Given the description of an element on the screen output the (x, y) to click on. 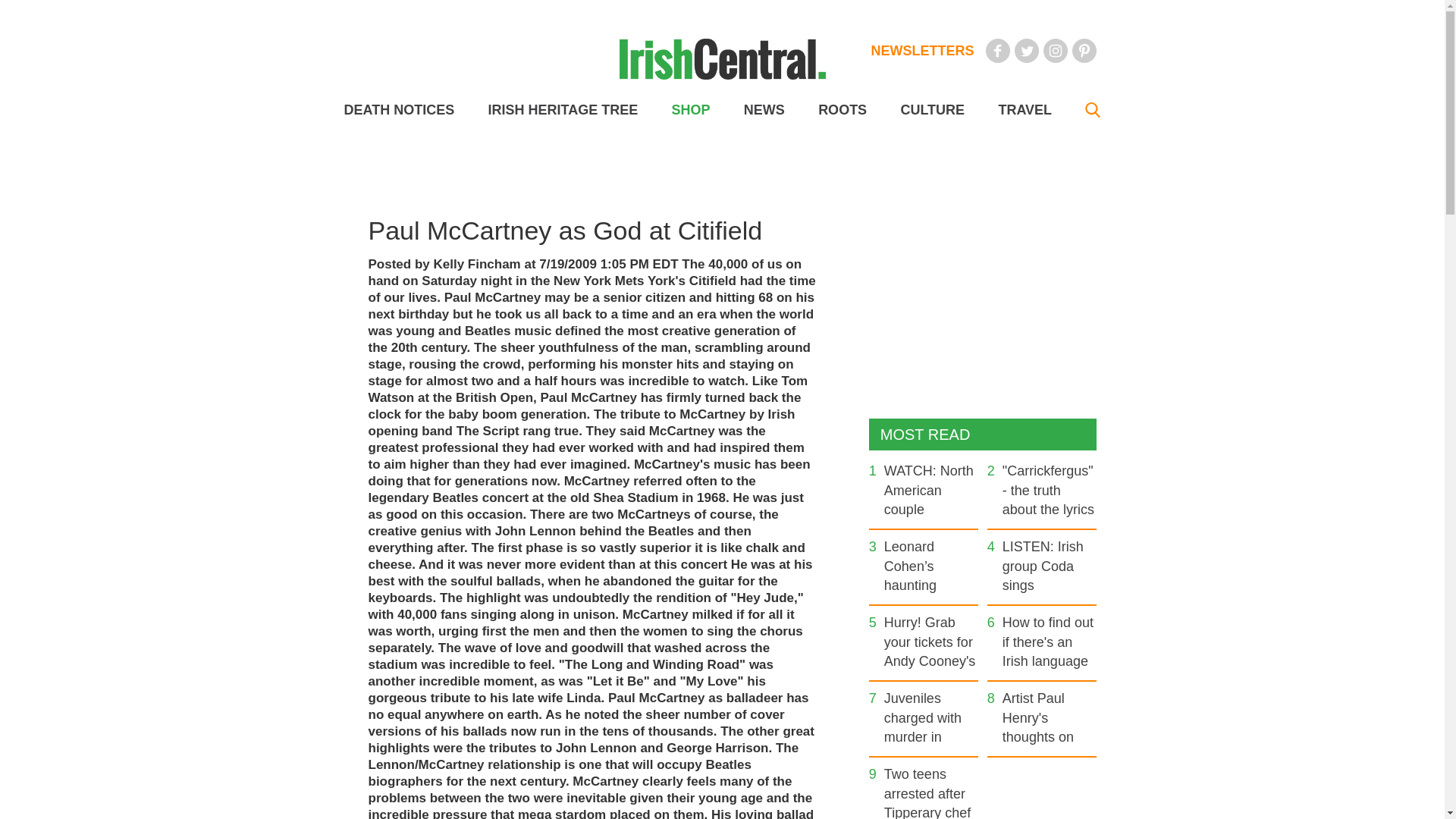
NEWS (764, 109)
CULTURE (931, 109)
DEATH NOTICES (398, 109)
ROOTS (842, 109)
SHOP (690, 109)
NEWSLETTERS (922, 50)
IRISH HERITAGE TREE (562, 109)
TRAVEL (1024, 109)
